Given the description of an element on the screen output the (x, y) to click on. 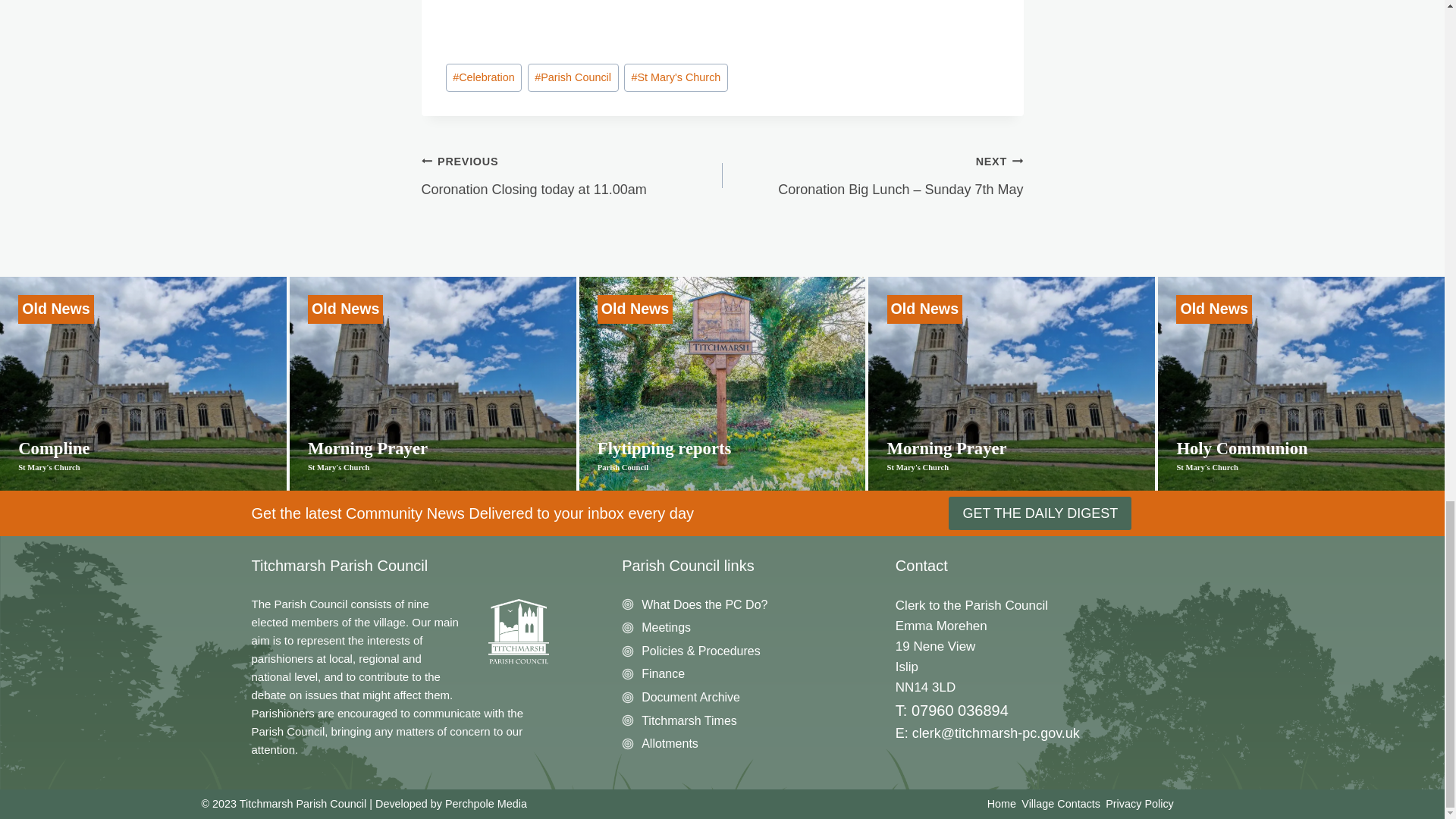
St Mary's Church (676, 77)
Celebration (483, 77)
Parish Council (572, 77)
